Given the description of an element on the screen output the (x, y) to click on. 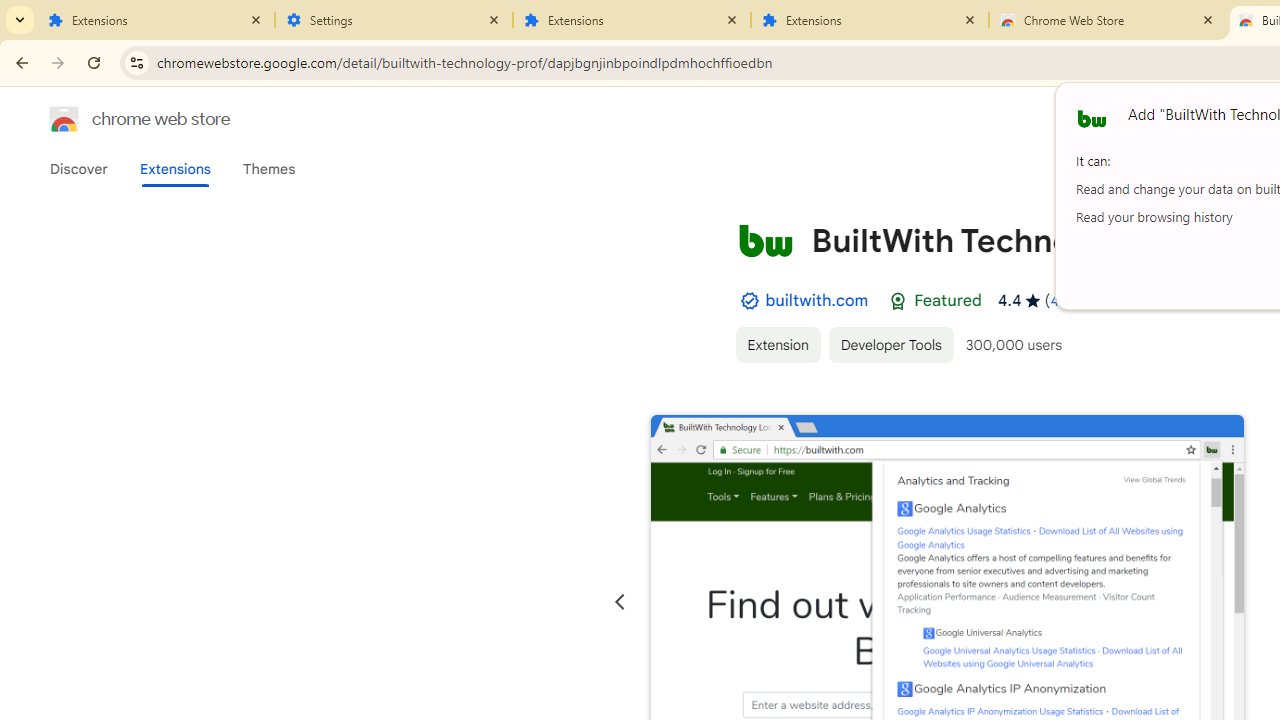
Discover (79, 169)
Featured Badge (898, 301)
Chrome Web Store logo (63, 118)
Extension (777, 344)
Extensions (156, 20)
Item logo image for BuiltWith Technology Profiler (765, 240)
Settings (394, 20)
Developer Tools (890, 344)
By Established Publisher Badge (749, 301)
Themes (269, 169)
